Given the description of an element on the screen output the (x, y) to click on. 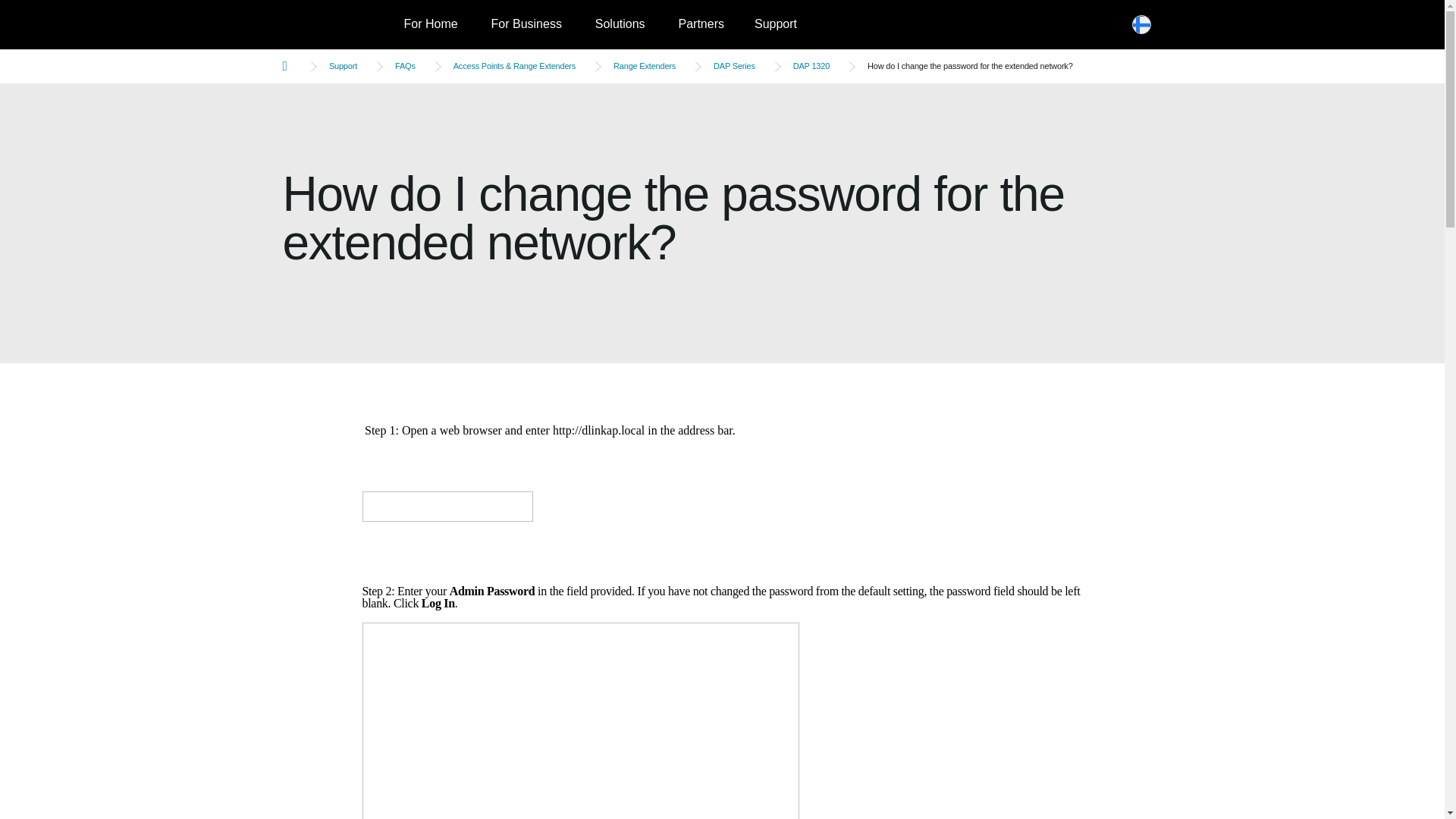
Solutions (620, 24)
For Business (526, 24)
Partners (700, 24)
D-Link (335, 24)
Support (775, 24)
For Home (429, 24)
